Given the description of an element on the screen output the (x, y) to click on. 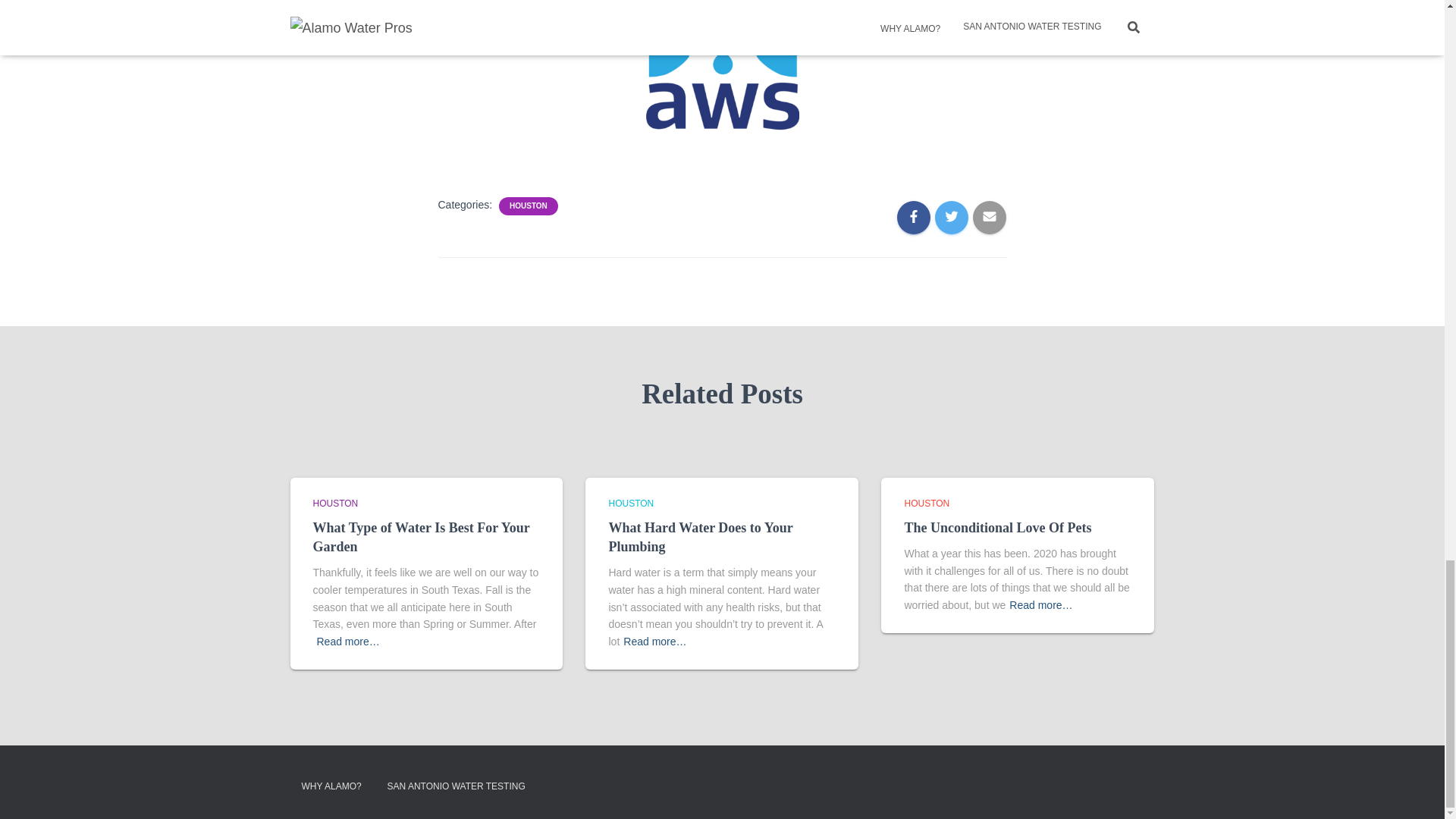
HOUSTON (528, 205)
View all posts in Houston (630, 502)
What Hard Water Does to Your Plumbing (700, 537)
The Unconditional Love Of Pets (997, 527)
What Type of Water Is Best For Your Garden (421, 537)
Why Alamo Water Solutions? (330, 786)
What Hard Water Does to Your Plumbing (700, 537)
View all posts in Houston (335, 502)
SAN ANTONIO WATER TESTING (456, 786)
HOUSTON (335, 502)
WHY ALAMO? (330, 786)
The Unconditional Love Of Pets (997, 527)
HOUSTON (926, 502)
HOUSTON (630, 502)
View all posts in Houston (926, 502)
